Given the description of an element on the screen output the (x, y) to click on. 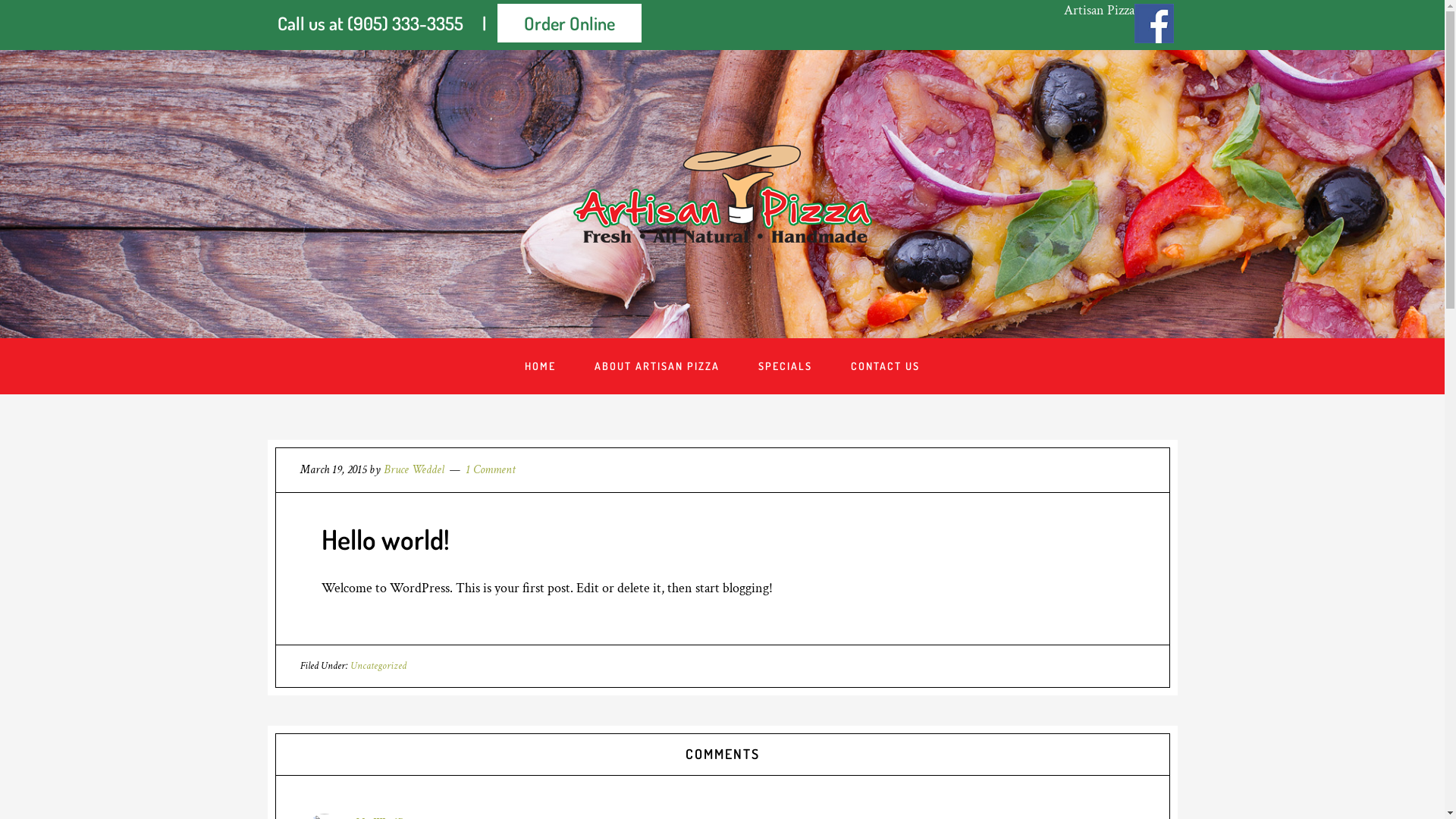
CONTACT US Element type: text (885, 366)
SPECIALS Element type: text (785, 366)
Artisan Pizza Element type: text (1098, 9)
HOME Element type: text (540, 366)
ARTISAN PIZZA Element type: text (721, 194)
1 Comment Element type: text (490, 469)
ABOUT ARTISAN PIZZA Element type: text (656, 366)
Uncategorized Element type: text (378, 665)
Order Online Element type: text (569, 22)
Bruce Weddel Element type: text (413, 469)
